Given the description of an element on the screen output the (x, y) to click on. 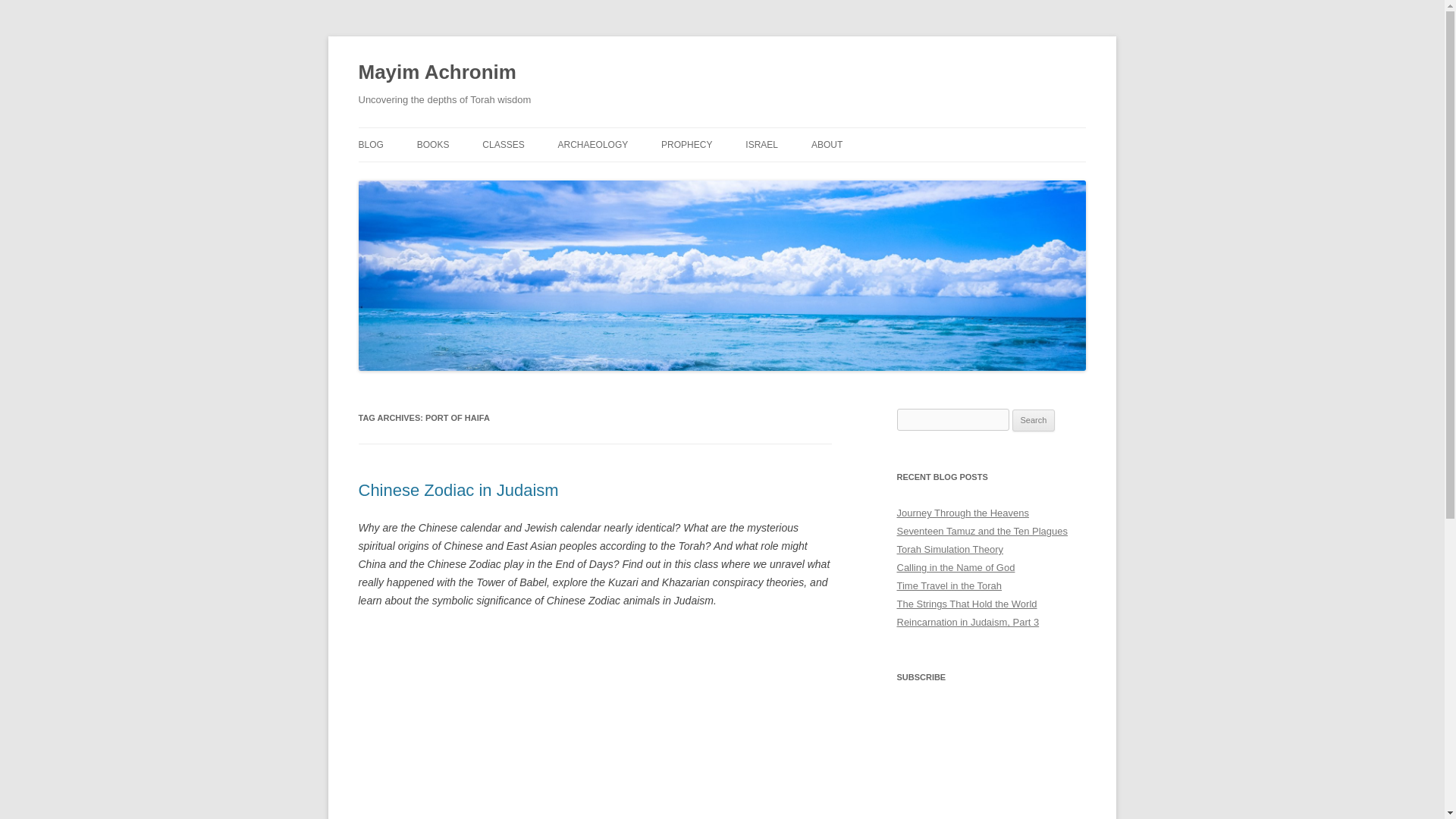
Chinese Zodiac in Judaism (457, 489)
ISRAEL (761, 144)
Chinese Zodiac in Judaism (594, 723)
PROPHECY (686, 144)
CLASSES (502, 144)
Search (1033, 420)
ABOUT (826, 144)
BOOKS (432, 144)
ARCHAEOLOGY (592, 144)
Mayim Achronim (436, 72)
